Given the description of an element on the screen output the (x, y) to click on. 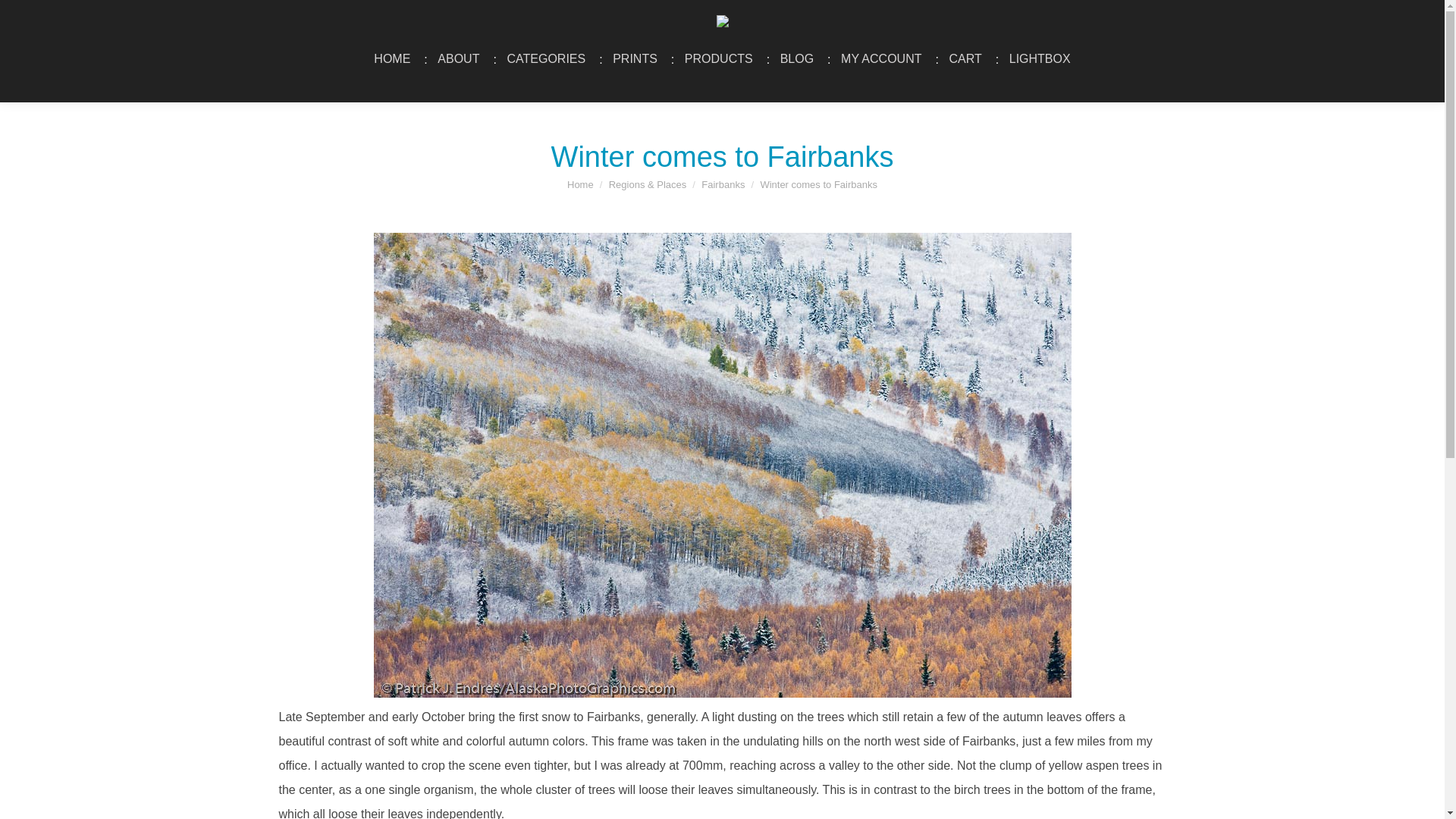
Fairbanks (722, 184)
CATEGORIES (545, 58)
PRODUCTS (719, 58)
HOME (391, 58)
MY ACCOUNT (880, 58)
PRINTS (634, 58)
CART (964, 58)
ABOUT (458, 58)
Home (580, 184)
